Given the description of an element on the screen output the (x, y) to click on. 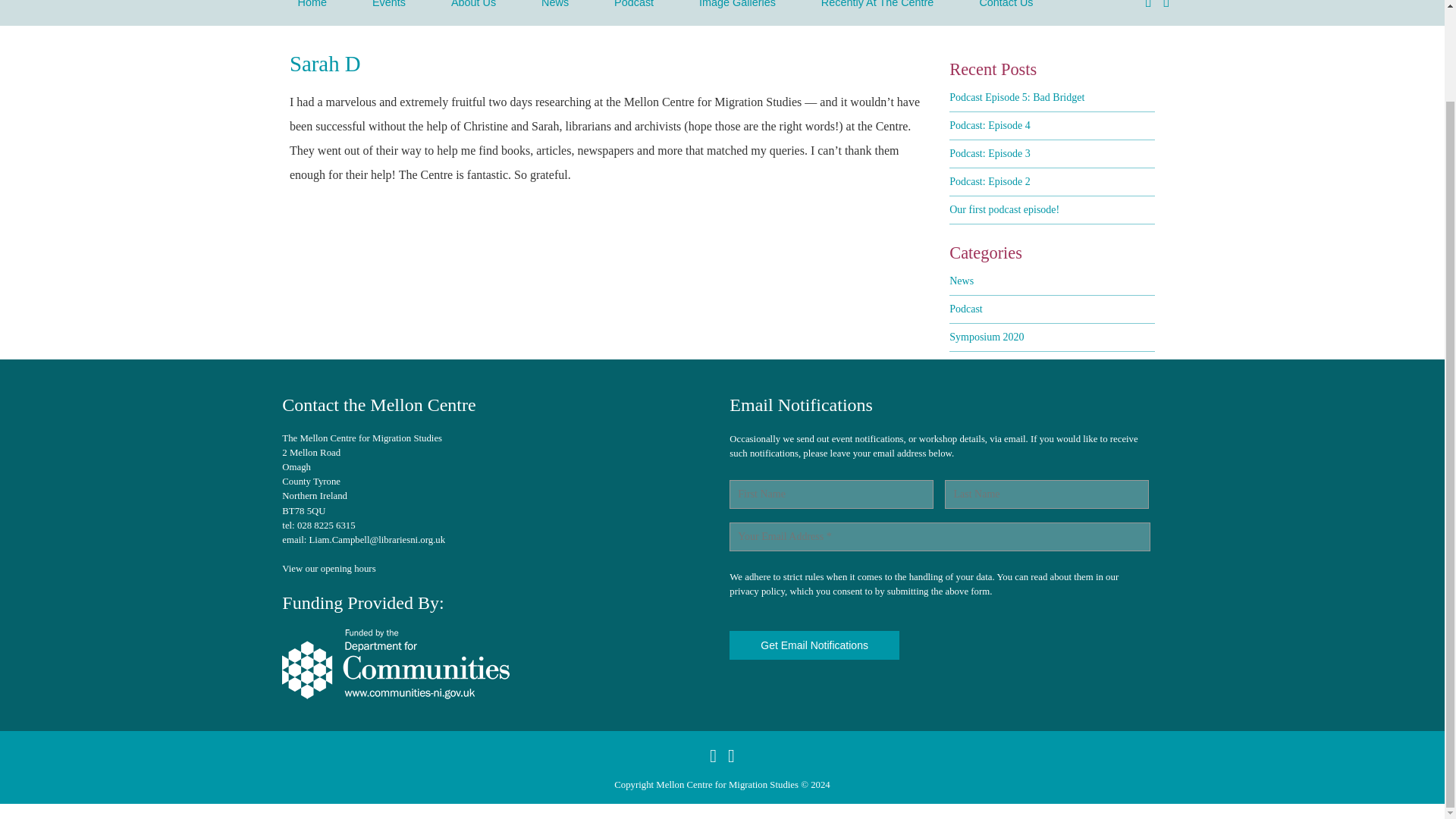
Home (311, 9)
Get Email Notifications (814, 645)
privacy policy (756, 591)
Podcast: Episode 2 (989, 181)
News (961, 280)
028 8225 6315 (326, 525)
Podcast (633, 9)
Get Email Notifications (814, 645)
Symposium 2020 (986, 337)
Contact Us (1005, 9)
